Given the description of an element on the screen output the (x, y) to click on. 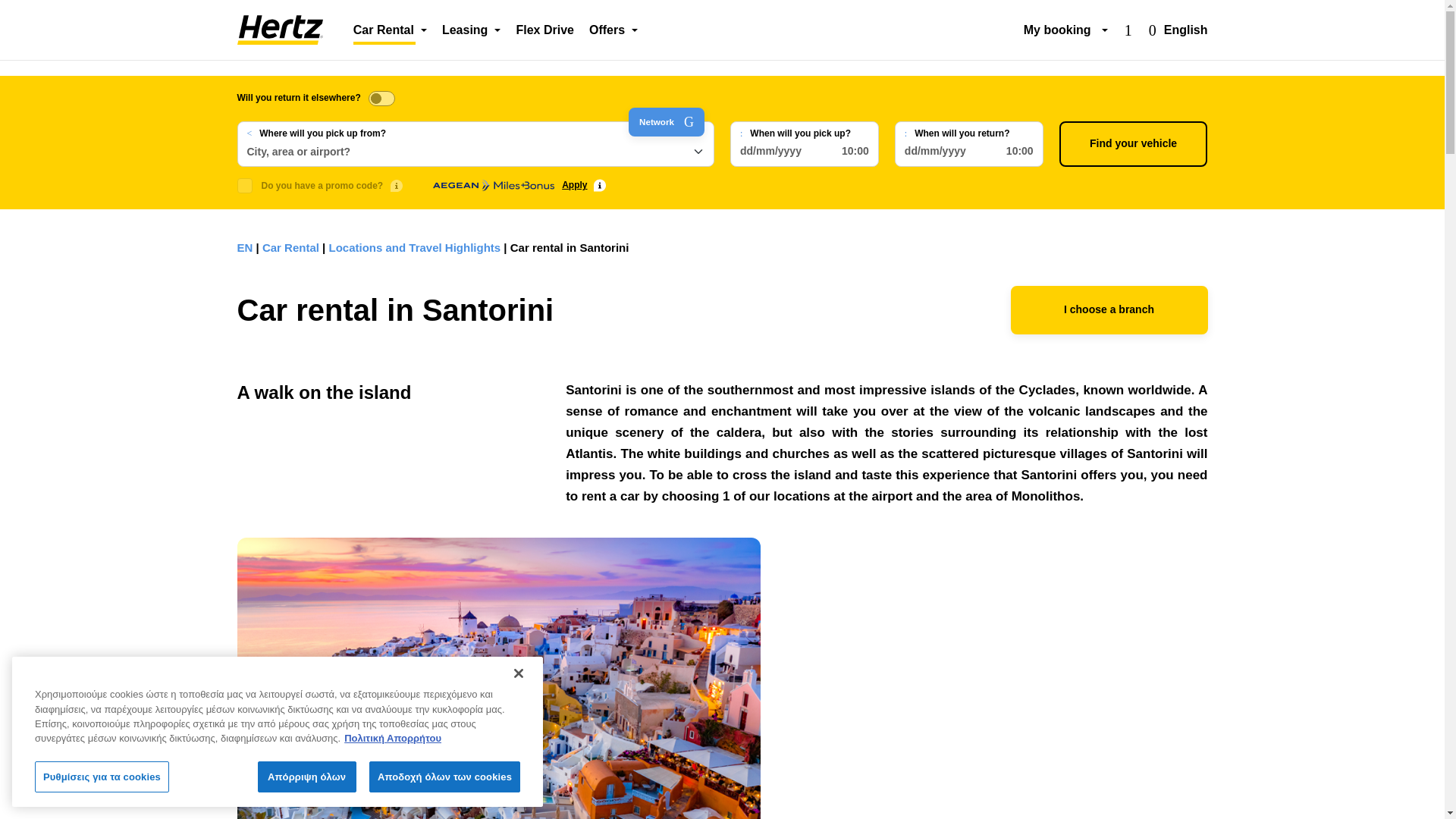
Offers (612, 29)
Leasing (470, 29)
Leasing (470, 29)
Offers (612, 29)
on (381, 98)
Flex Drive (544, 29)
Flex Drive (544, 29)
My booking (1065, 29)
Car Rental (278, 30)
English (1178, 29)
